Given the description of an element on the screen output the (x, y) to click on. 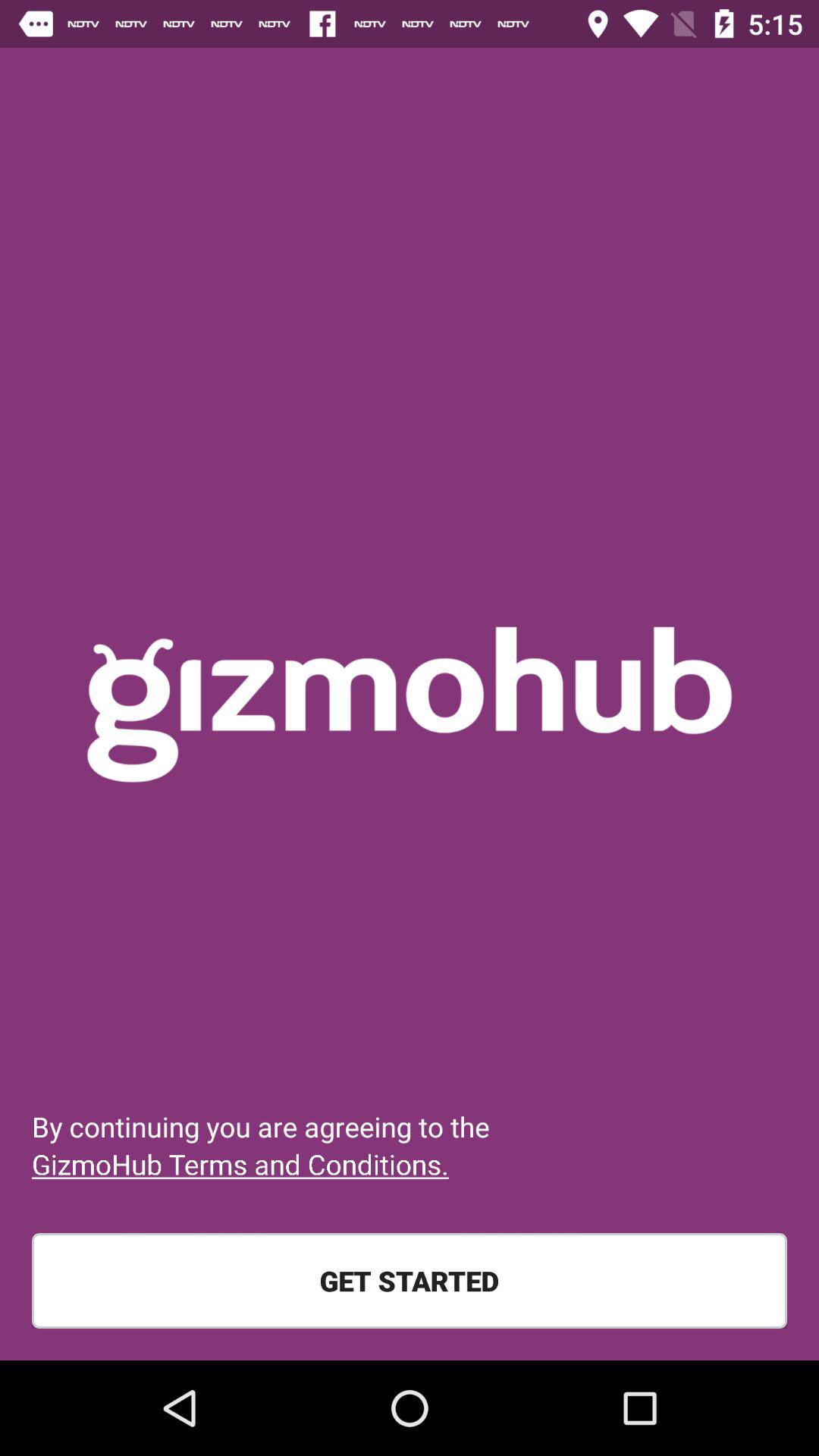
turn off icon above the get started item (239, 1164)
